Given the description of an element on the screen output the (x, y) to click on. 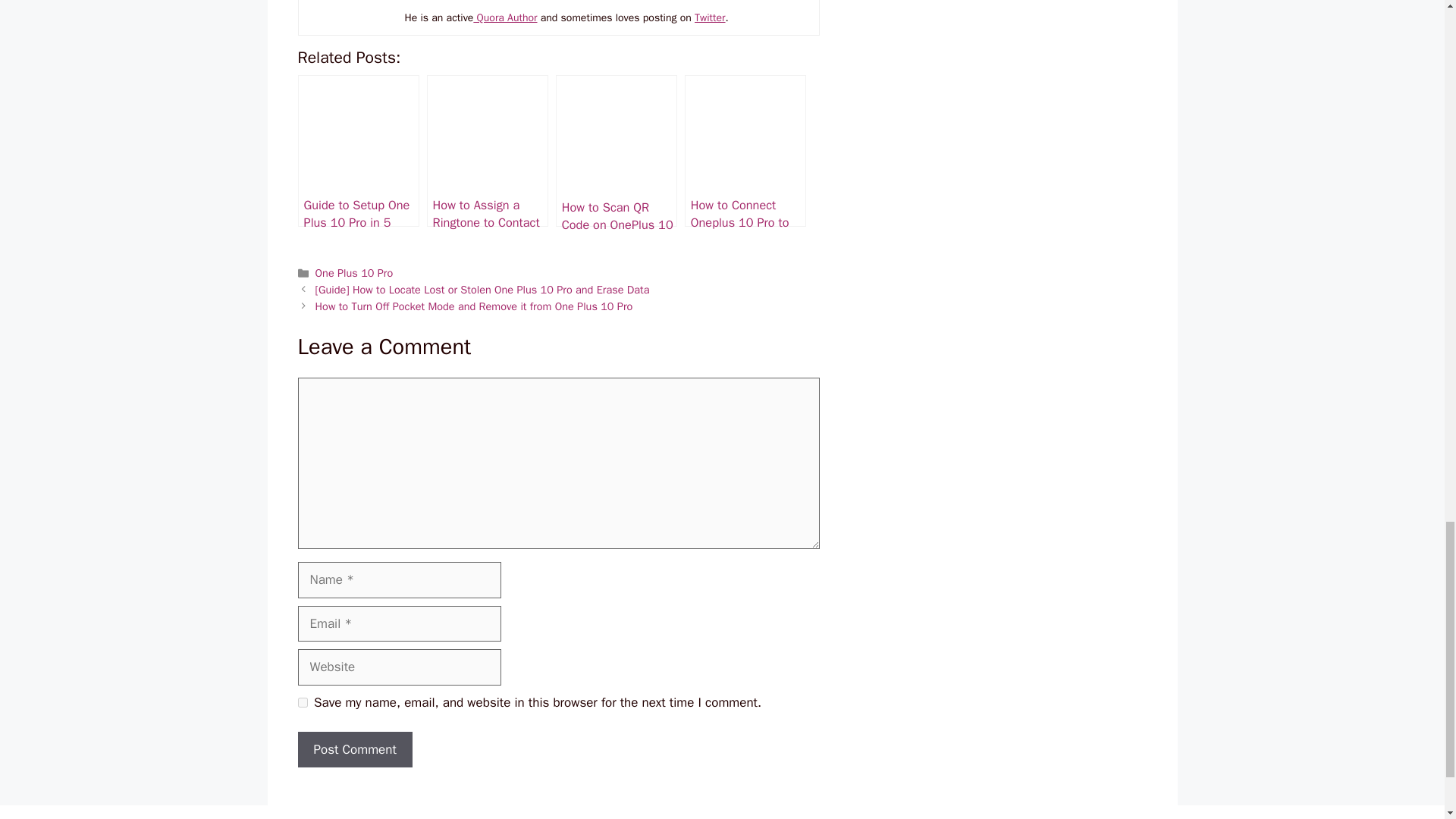
One Plus 10 Pro (354, 273)
Quora Author (505, 17)
Post Comment (354, 750)
Next (474, 305)
Twitter (709, 17)
Previous (482, 289)
Post Comment (354, 750)
yes (302, 702)
